Given the description of an element on the screen output the (x, y) to click on. 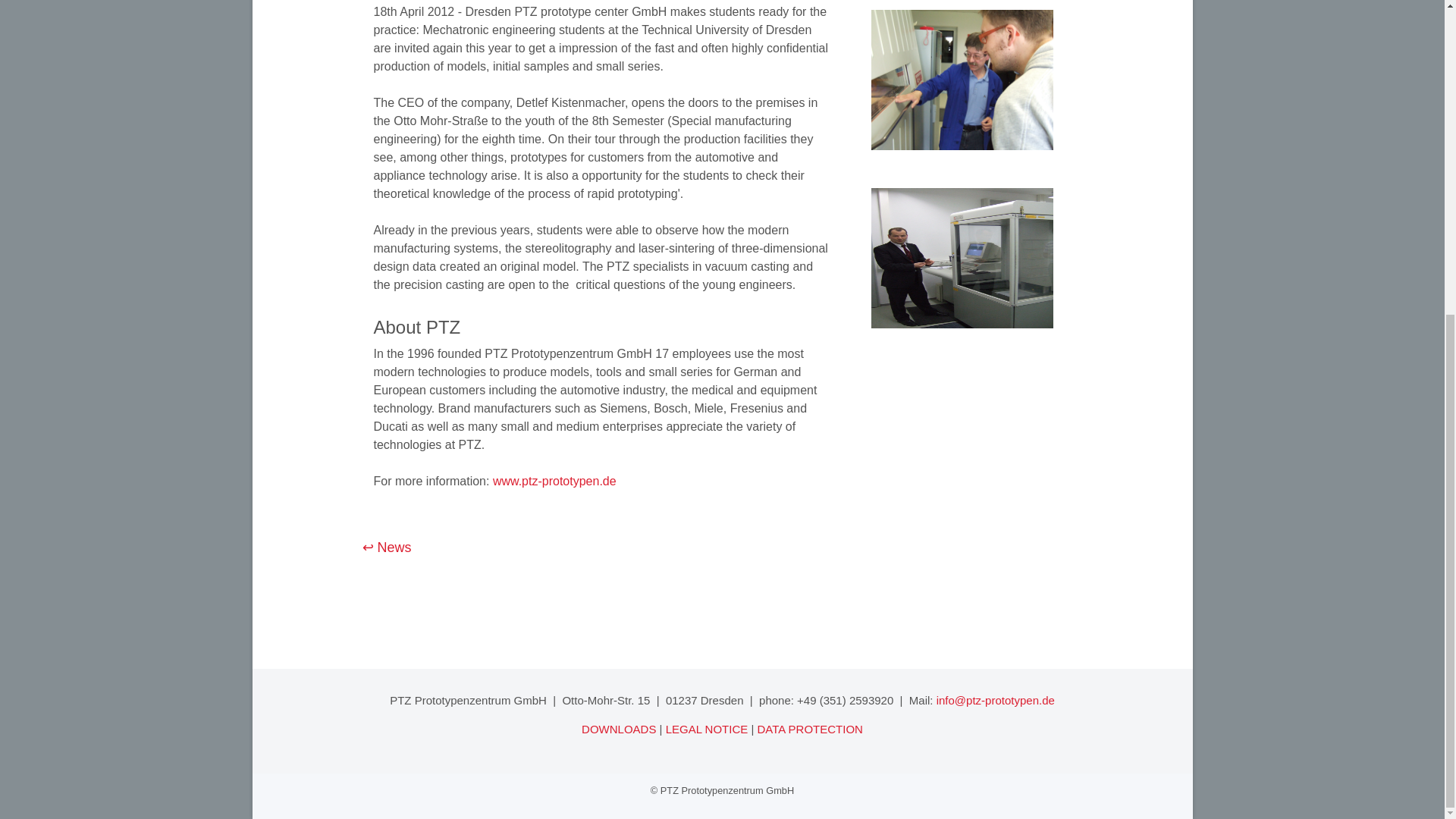
DOWNLOADS (618, 728)
DATA PROTECTION (809, 728)
www.ptz-prototypen.de (554, 481)
Category: News (387, 547)
News (387, 547)
LEGAL NOTICE (706, 728)
